Given the description of an element on the screen output the (x, y) to click on. 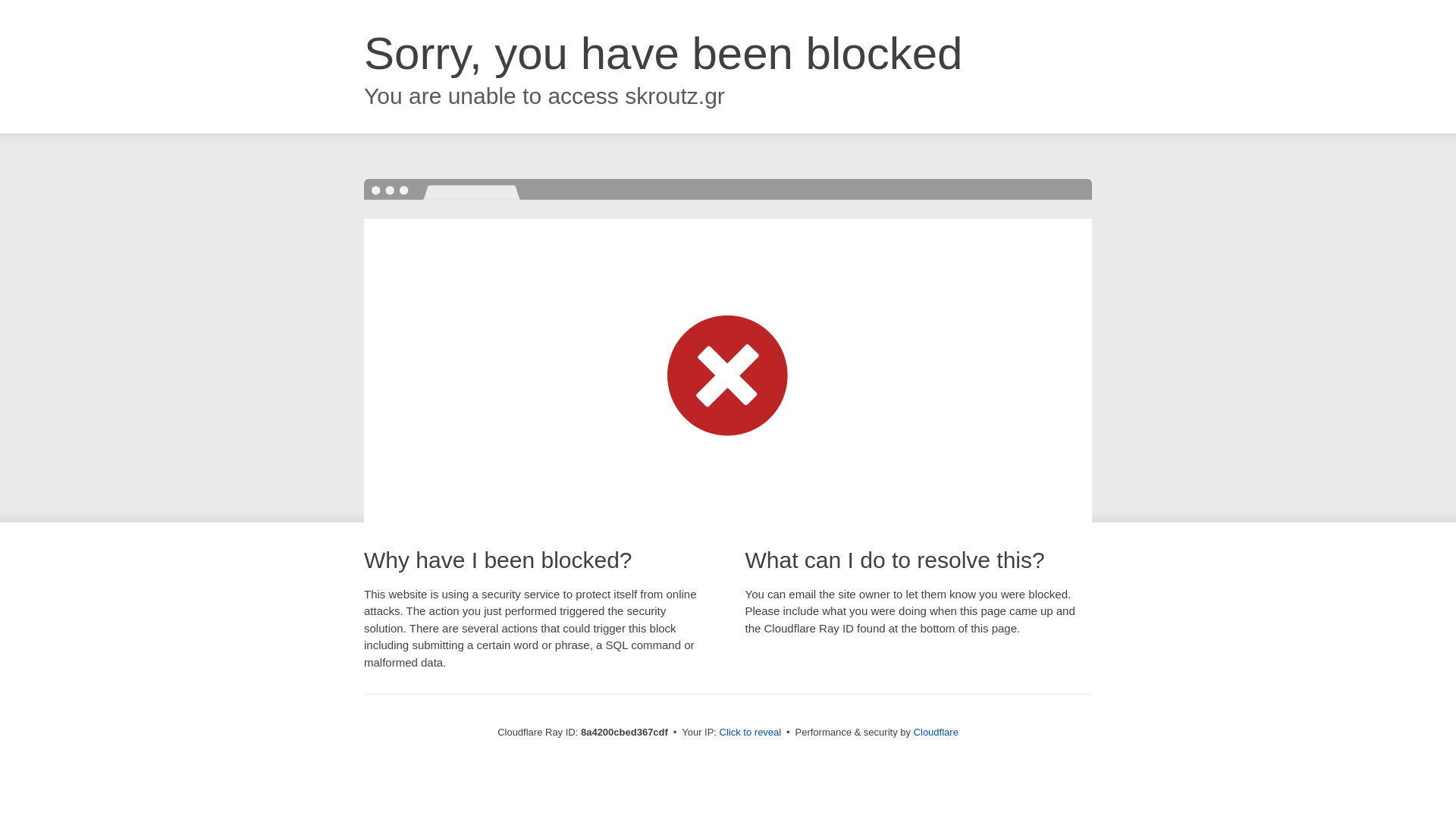
Click to reveal (750, 732)
Cloudflare (936, 731)
